Given the description of an element on the screen output the (x, y) to click on. 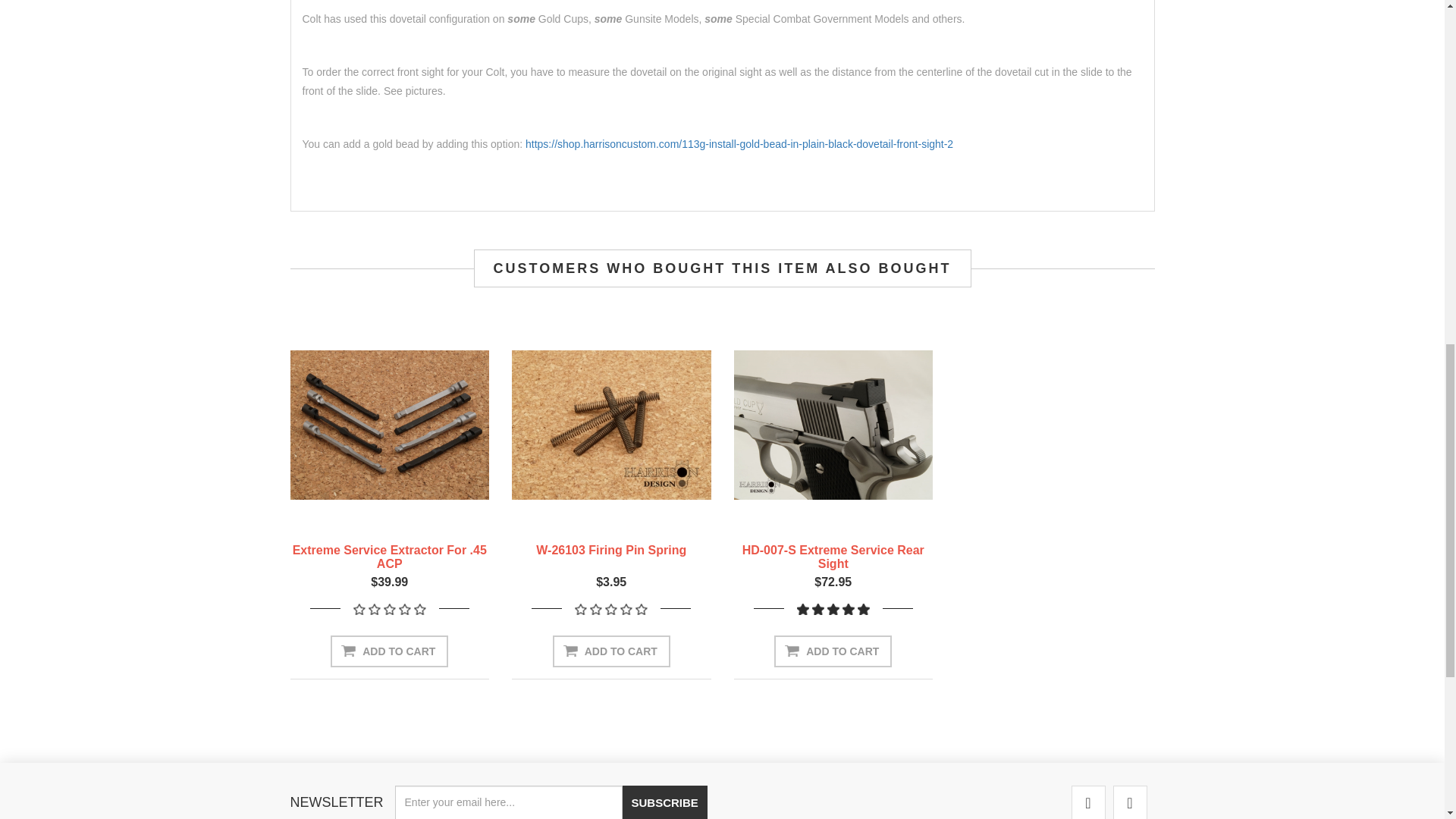
Show details for Extreme Service Extractor for .45 ACP (389, 424)
Show details for HD-007-S Extreme Service Rear Sight (833, 424)
Show details for W-26103 Firing pin spring (611, 424)
Show details for Extreme Service Extractor for .45 ACP (389, 424)
Show details for HD-007-S Extreme Service Rear Sight (833, 424)
Show details for W-26103 Firing pin spring (611, 424)
